Given the description of an element on the screen output the (x, y) to click on. 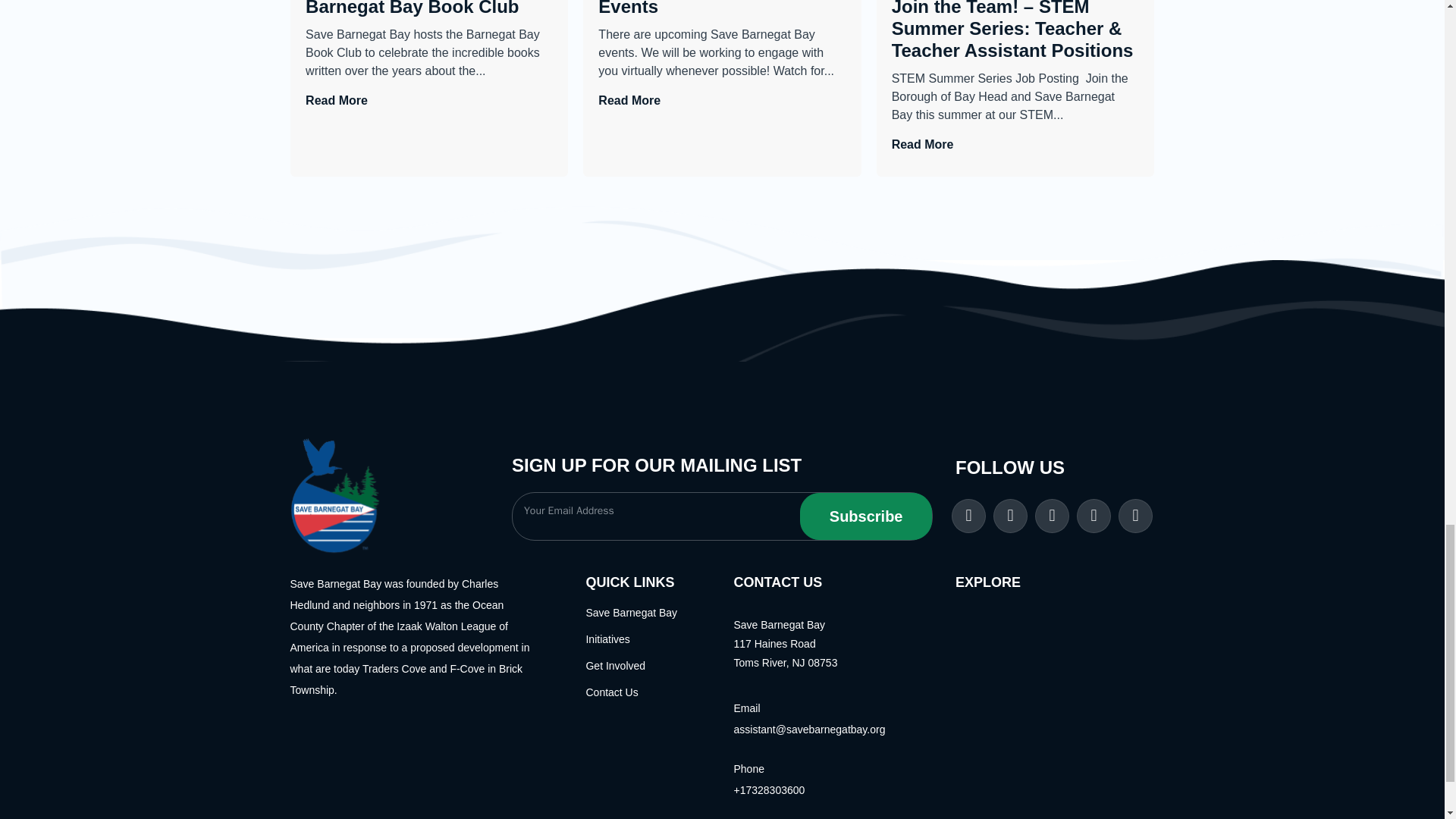
Read More (336, 100)
Events (721, 9)
Read More (922, 144)
Subscribe (865, 516)
Barnegat Bay Book Club (429, 9)
Read More (629, 100)
